Given the description of an element on the screen output the (x, y) to click on. 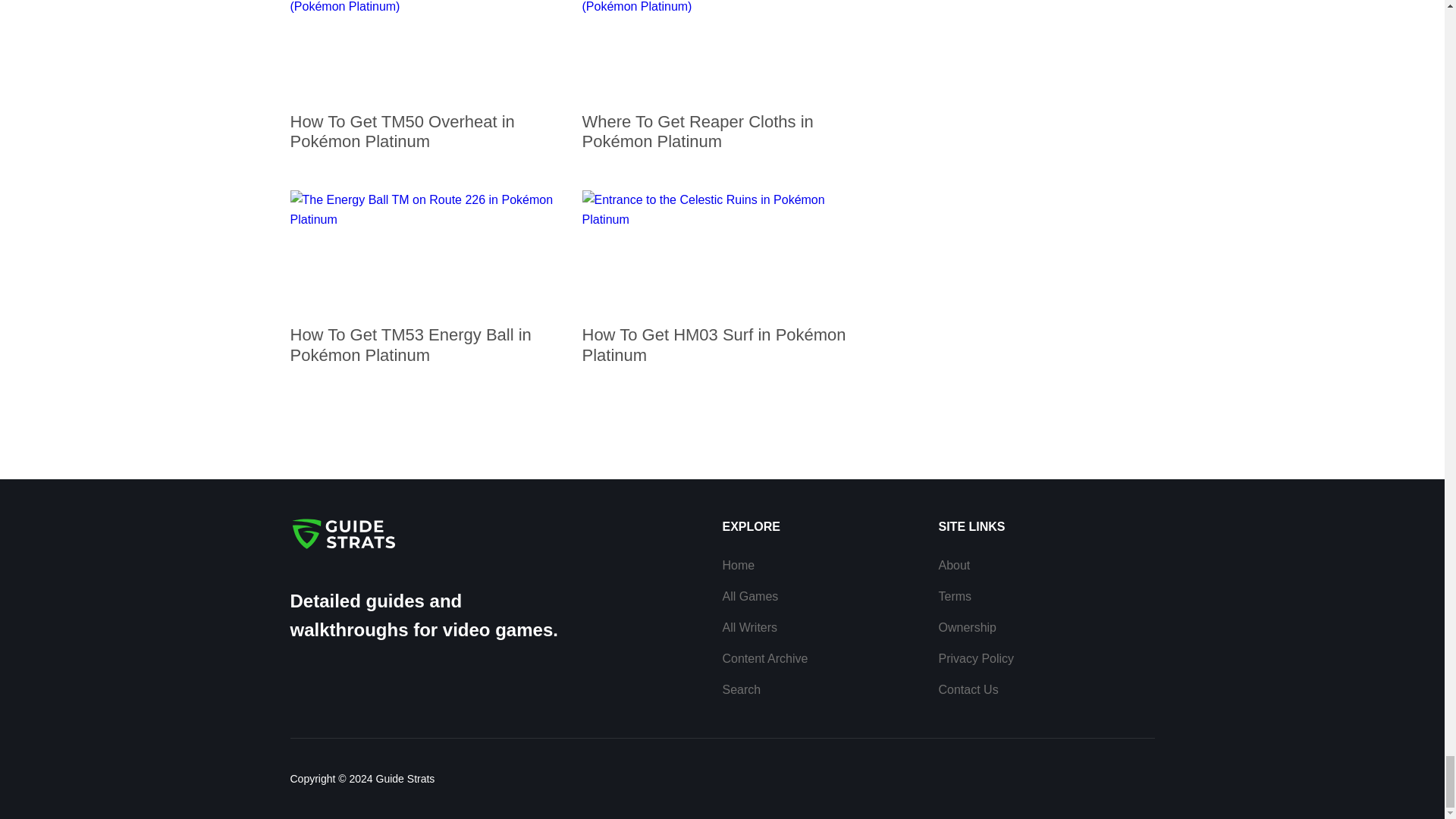
Content Archive (765, 658)
All Writers (749, 626)
Search (741, 689)
Ownership (967, 626)
All Games (749, 595)
Terms (955, 595)
About (955, 564)
Contact Us (968, 689)
Privacy Policy (976, 658)
Home (738, 564)
